Given the description of an element on the screen output the (x, y) to click on. 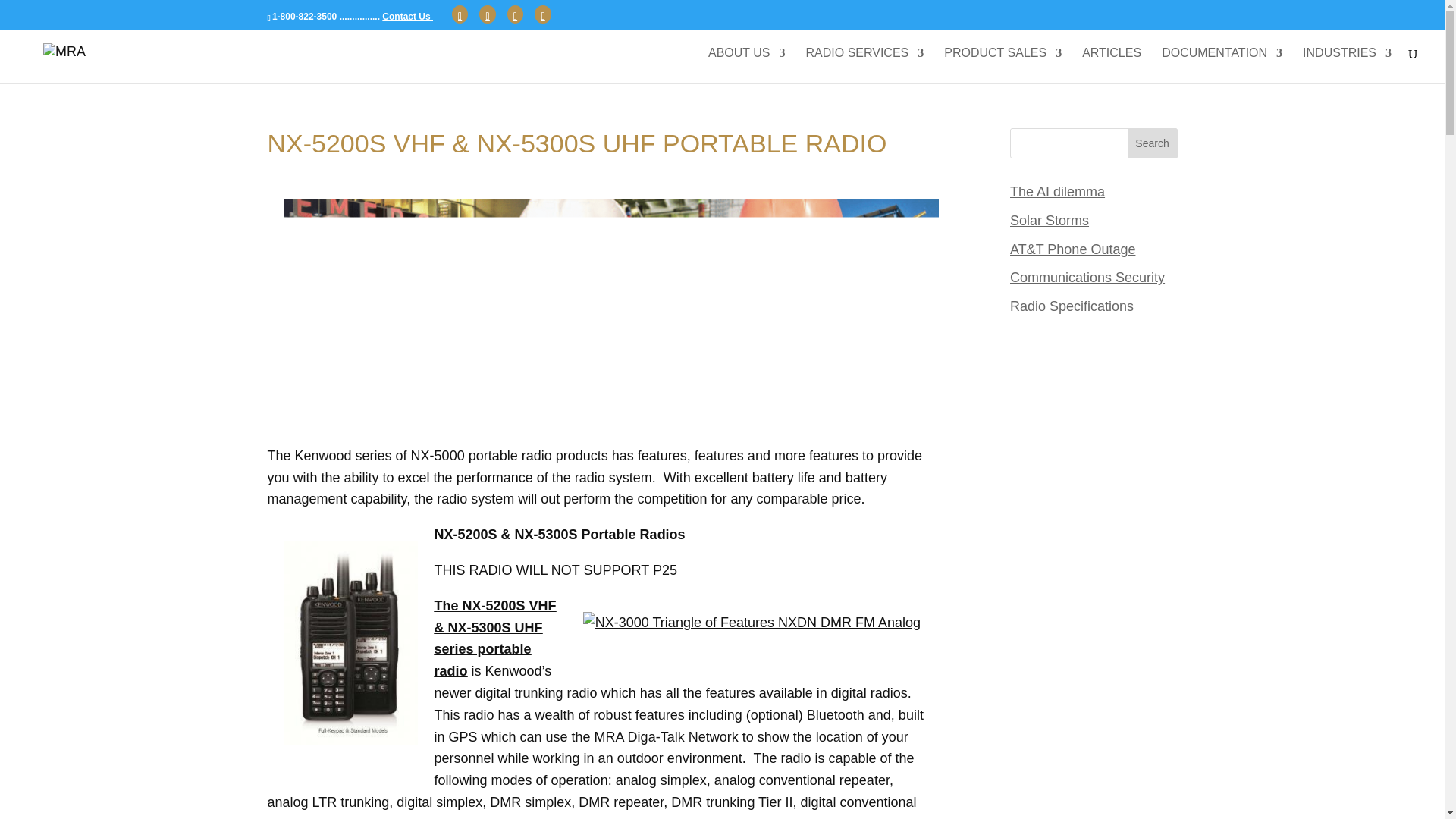
ABOUT US (746, 65)
Search (1151, 142)
RADIO SERVICES (865, 65)
Contact Us (406, 16)
